Given the description of an element on the screen output the (x, y) to click on. 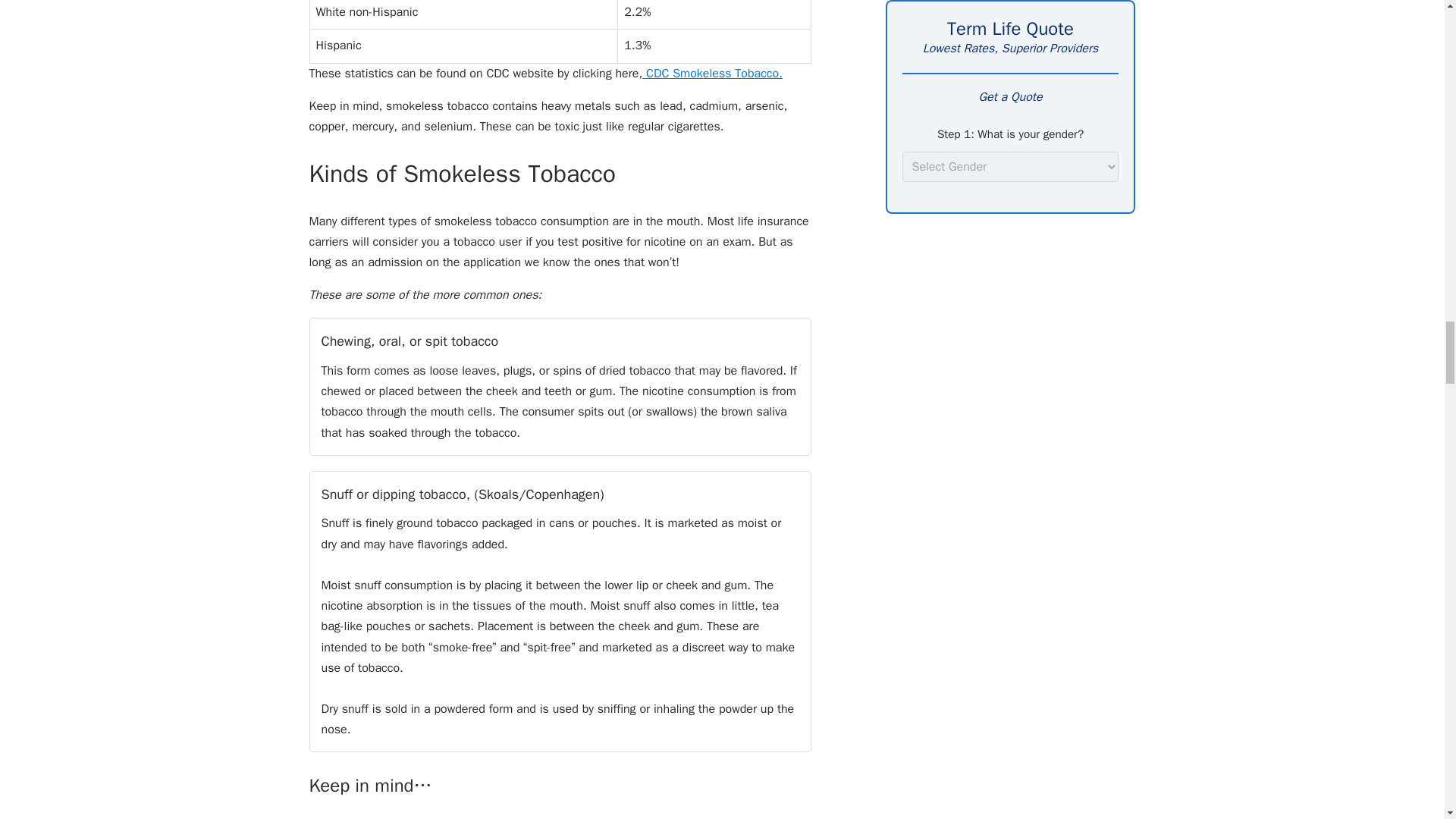
CDC Smokeless Tobacco. (714, 73)
